Given the description of an element on the screen output the (x, y) to click on. 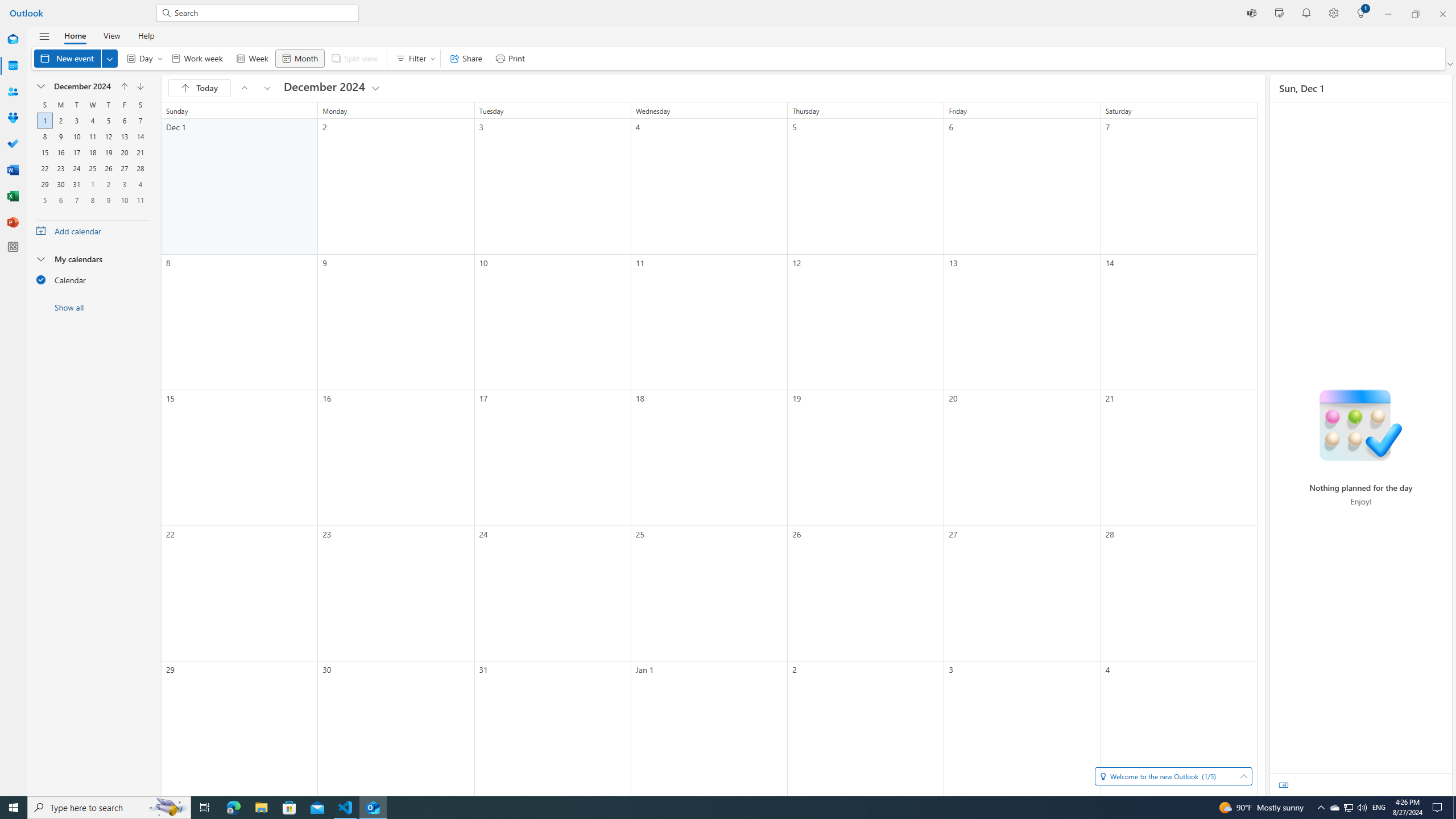
6, January, 2025 (59, 200)
9, December, 2024 (60, 136)
Sunday (44, 104)
22, December, 2024 (44, 168)
Groups (12, 118)
31, December, 2024 (76, 184)
28, December, 2024 (140, 168)
Go to next month January (140, 86)
4, January, 2025 (140, 183)
8, December, 2024 (44, 136)
Saturday (140, 104)
Split view (354, 58)
11, December, 2024 (92, 136)
9, January, 2025 (108, 200)
